Given the description of an element on the screen output the (x, y) to click on. 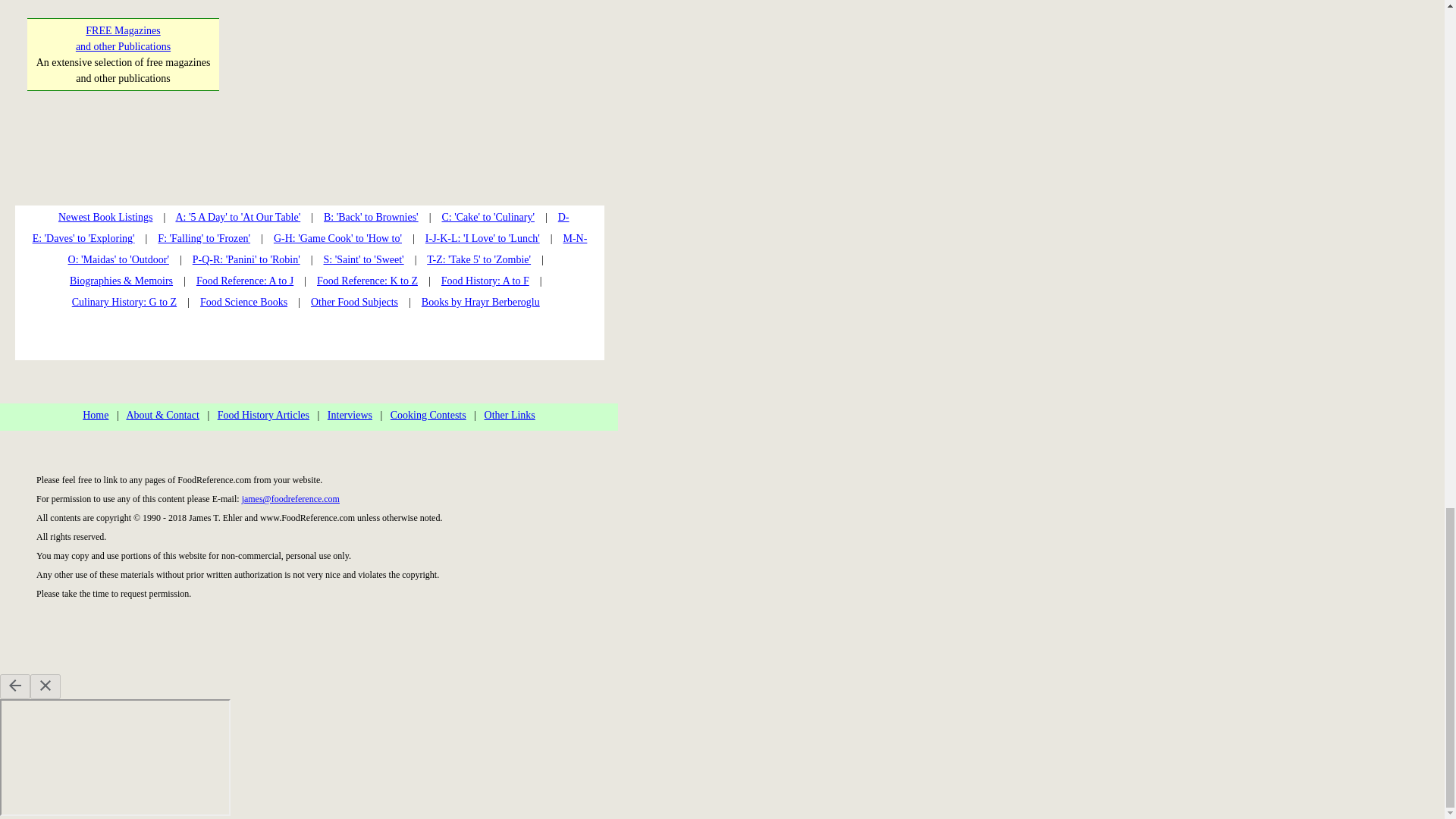
A: '5 A Day' to 'At Our Table' (236, 216)
D-E: 'Daves' to 'Exploring' (300, 227)
M-N-O: 'Maidas' to 'Outdoor' (328, 248)
S: 'Saint' to 'Sweet' (363, 259)
Newest Book Listings (105, 216)
F: 'Falling' to 'Frozen' (203, 238)
P-Q-R: 'Panini' to 'Robin' (245, 259)
Food Reference: K to Z (367, 280)
I-J-K-L: 'I Love' to 'Lunch' (482, 238)
G-H: 'Game Cook' to 'How to' (337, 238)
Food History: A to F (485, 280)
Food Reference: A to J (245, 280)
C: 'Cake' to 'Culinary' (122, 38)
T-Z: 'Take 5' to 'Zombie' (487, 216)
